Given the description of an element on the screen output the (x, y) to click on. 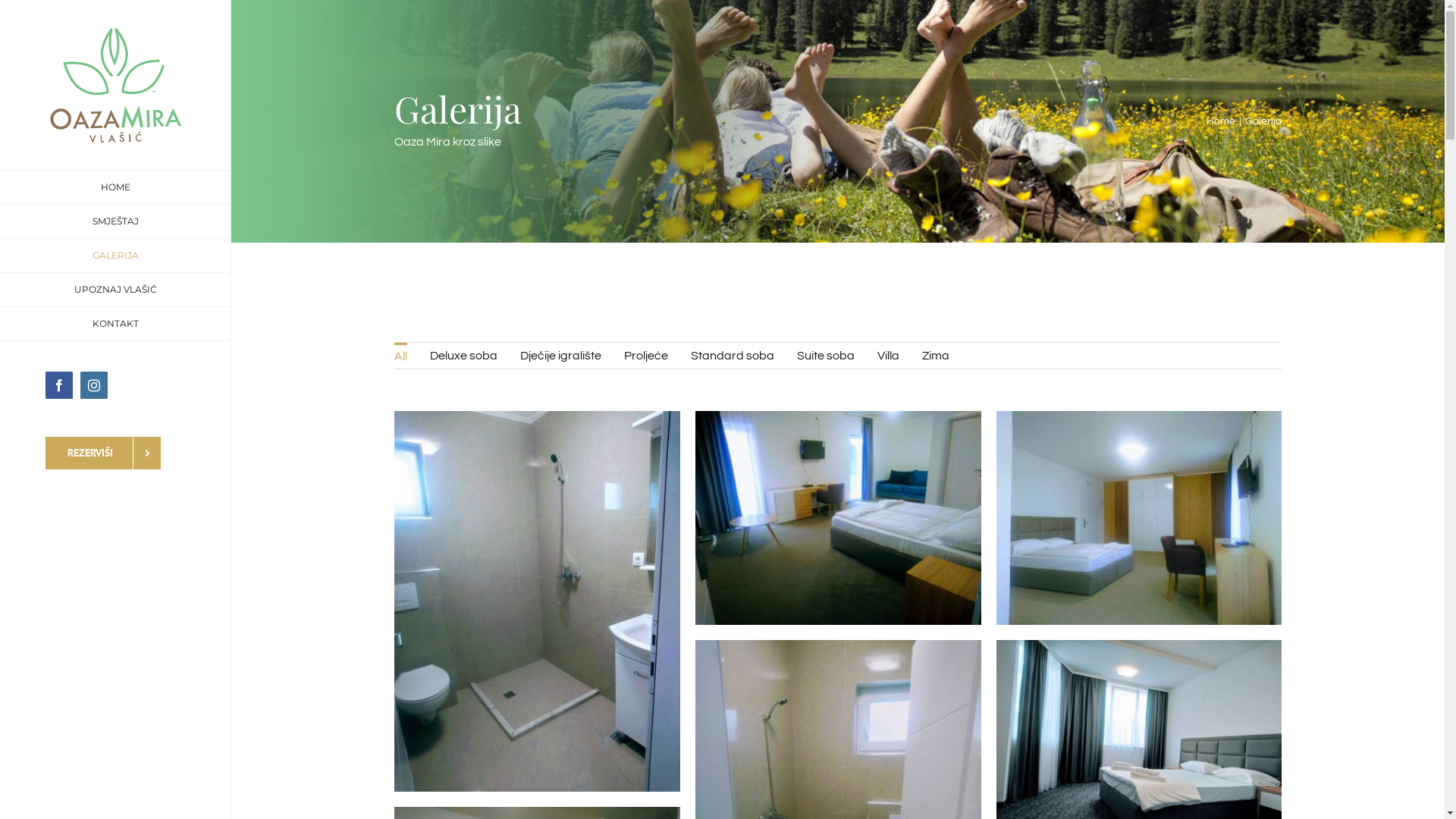
Facebook Element type: text (58, 384)
Suite soba Element type: text (825, 355)
GALERIJA Element type: text (115, 255)
Standard soba Element type: text (732, 355)
Villa Element type: text (888, 355)
All Element type: text (400, 355)
Zima Element type: text (935, 355)
Home Element type: text (1220, 121)
KONTAKT Element type: text (115, 324)
HOME Element type: text (115, 186)
Instagram Element type: text (93, 384)
Deluxe soba Element type: text (463, 355)
